Given the description of an element on the screen output the (x, y) to click on. 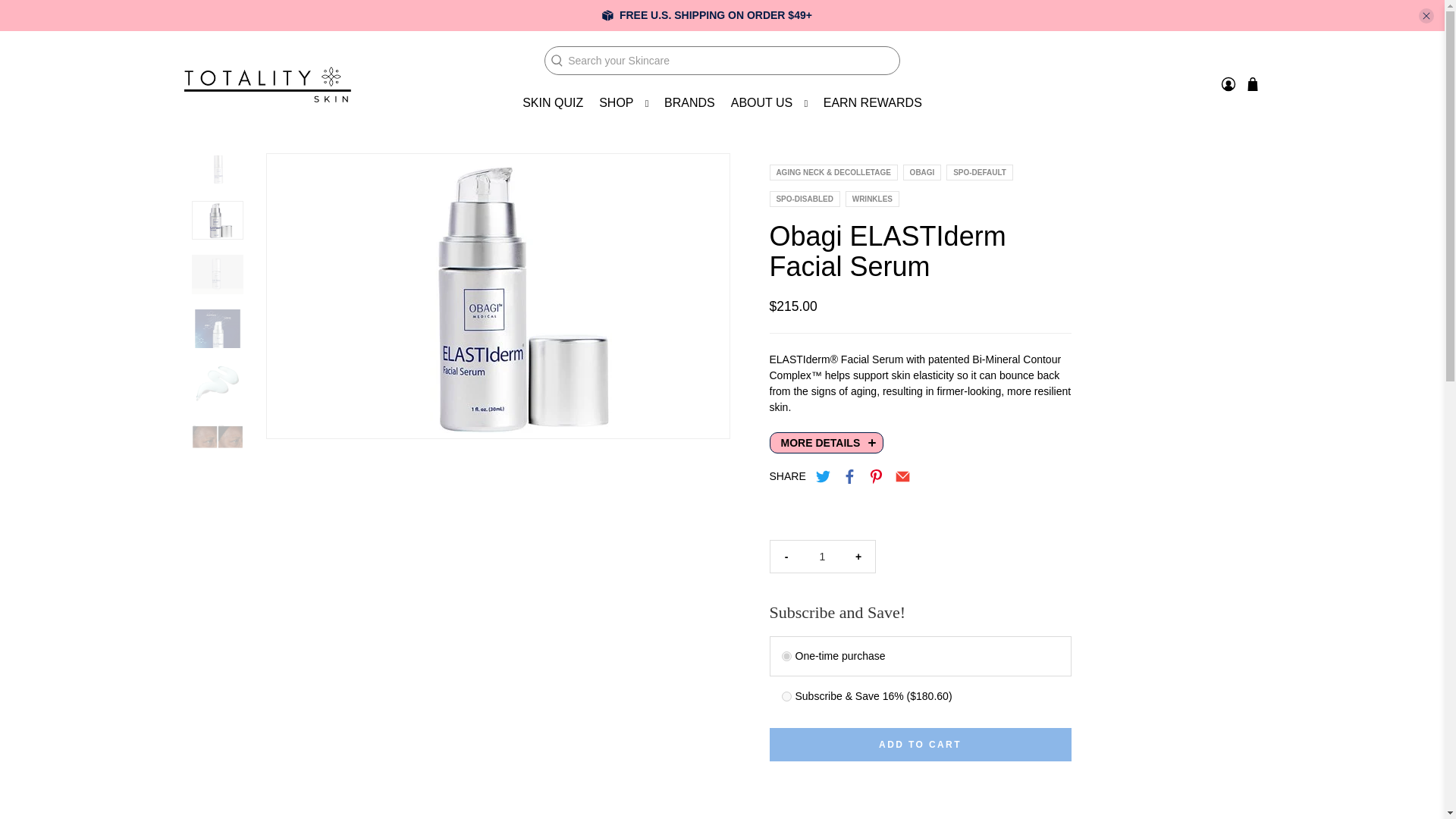
Products tagged obagi (922, 172)
Share this on Facebook (849, 476)
BRANDS (689, 102)
SKIN QUIZ (553, 102)
EARN REWARDS (872, 102)
SHOP (623, 102)
0 (785, 655)
Totality Medispa and Skincare (266, 84)
Products tagged spo-default (979, 172)
Products tagged Wrinkles (871, 197)
